Given the description of an element on the screen output the (x, y) to click on. 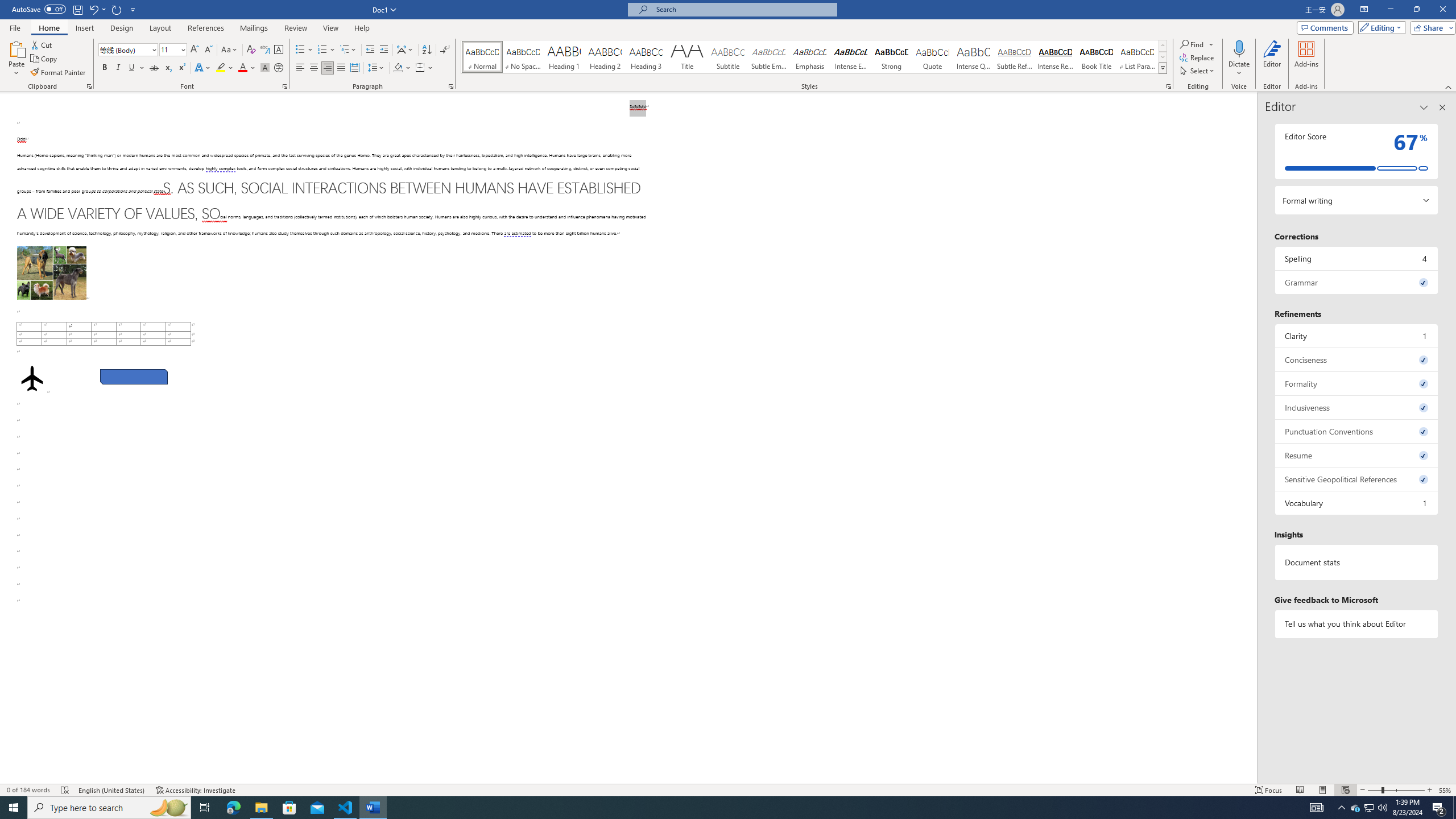
Line and Paragraph Spacing (376, 67)
Subtle Reference (1014, 56)
Change Case (229, 49)
Select (1197, 69)
Sort... (426, 49)
Spelling and Grammar Check Errors (65, 790)
Bold (104, 67)
